Given the description of an element on the screen output the (x, y) to click on. 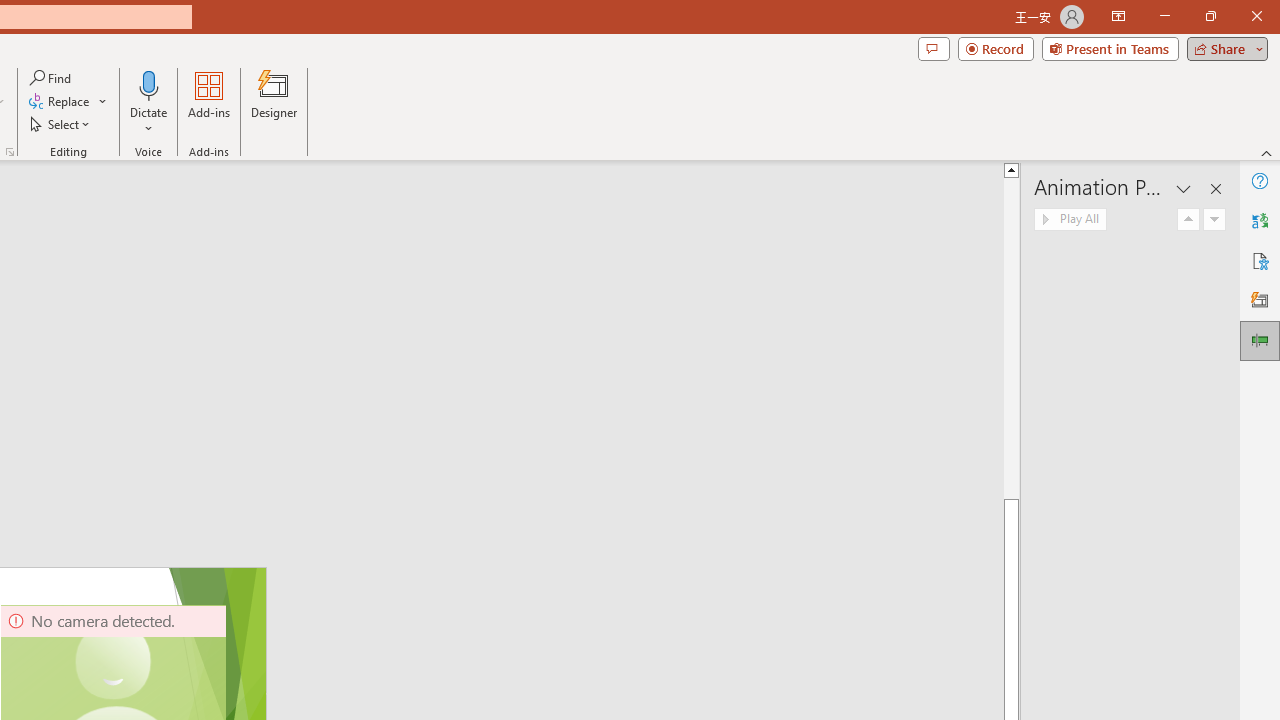
Share (1223, 48)
Animation Pane (1260, 340)
Dictate (149, 84)
Select (61, 124)
Help (1260, 180)
Close pane (1215, 188)
More Options (149, 121)
Task Pane Options (1183, 188)
Minimize (1164, 16)
Designer (274, 102)
Ribbon Display Options (1118, 16)
Page up (1011, 337)
Find... (51, 78)
